Given the description of an element on the screen output the (x, y) to click on. 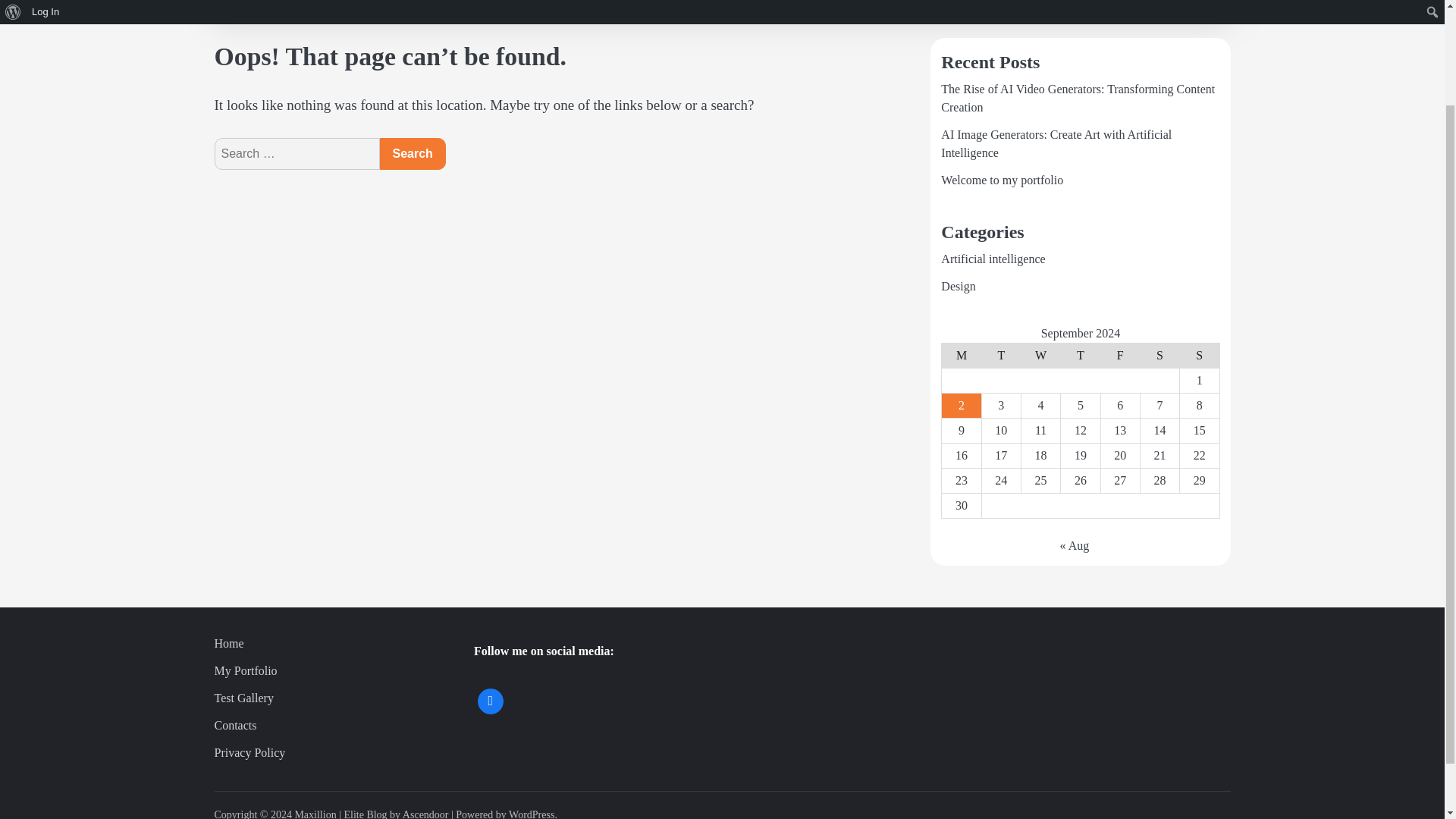
Search (411, 153)
Monday (961, 355)
Wednesday (1039, 355)
Home (228, 643)
AI Image Generators: Create Art with Artificial Intelligence (1056, 142)
Artificial intelligence (992, 258)
Test Gallery (243, 697)
Design (957, 286)
Saturday (1159, 355)
Tuesday (1000, 355)
